Given the description of an element on the screen output the (x, y) to click on. 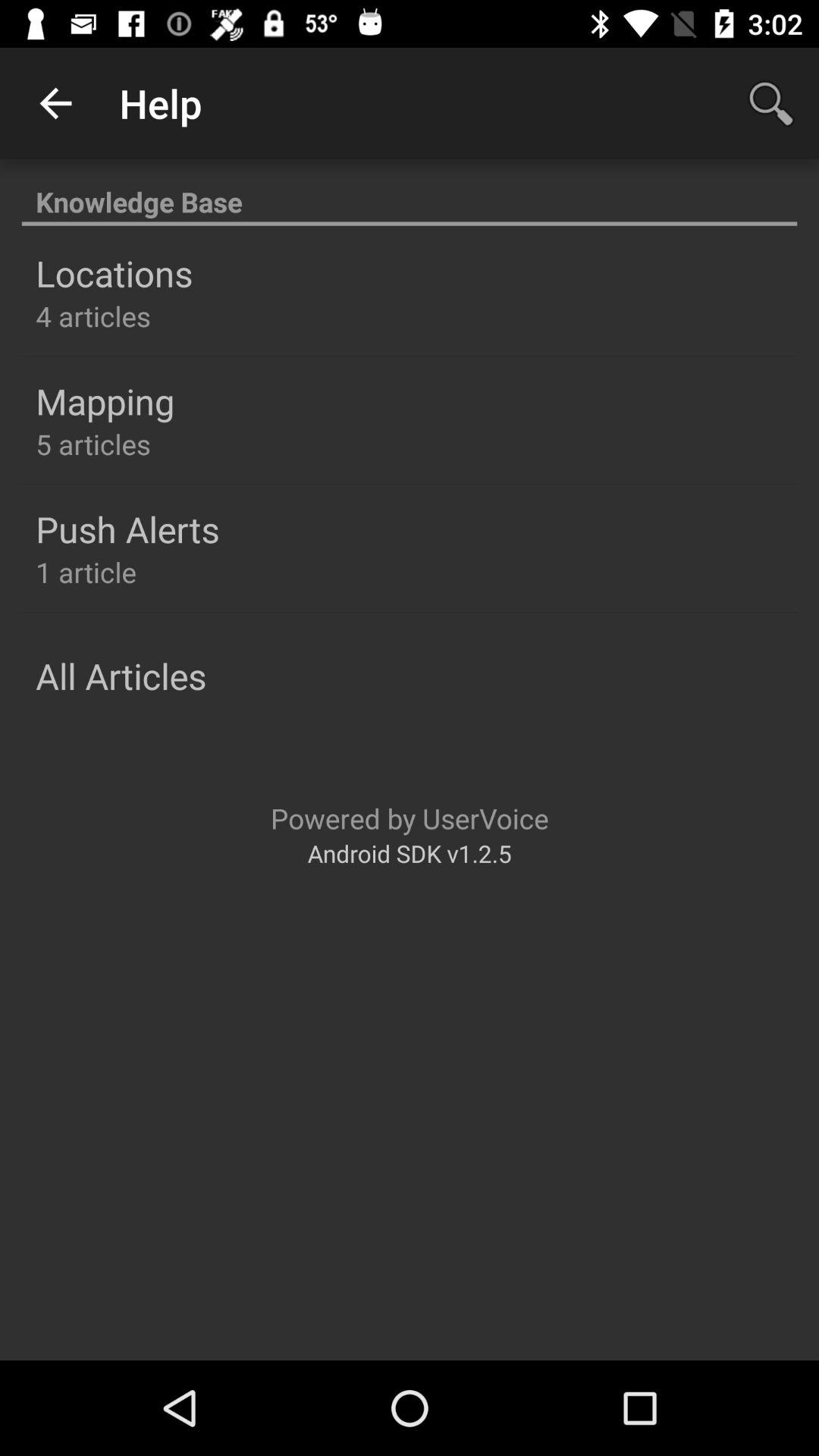
tap the app next to the help (55, 103)
